Given the description of an element on the screen output the (x, y) to click on. 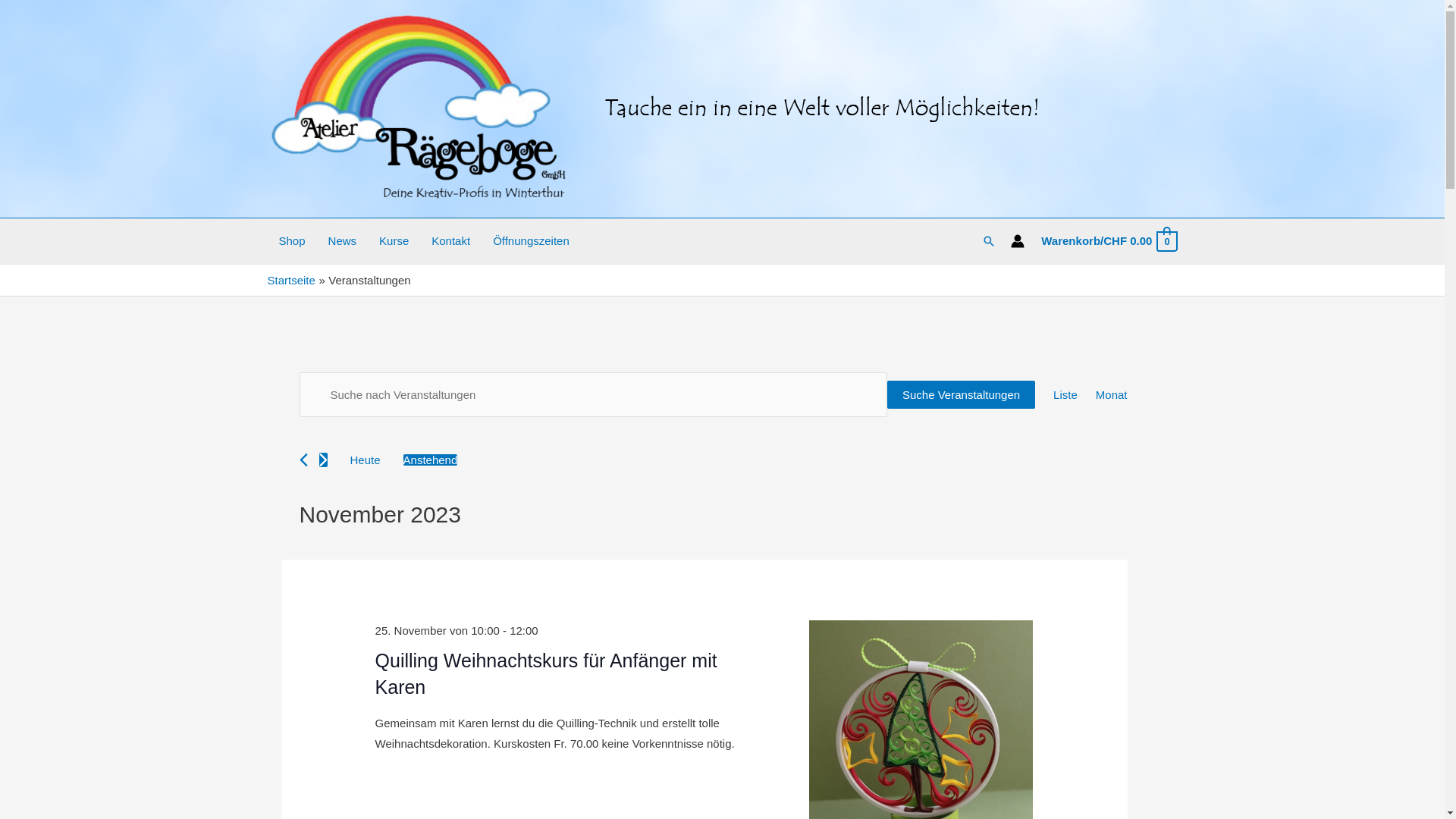
Kurse Element type: text (393, 240)
Vorherige Veranstaltungen Element type: hover (302, 459)
News Element type: text (342, 240)
Heute Element type: text (364, 460)
Shop Element type: text (291, 240)
Startseite Element type: text (290, 279)
Anstehend Element type: text (430, 459)
Suche Veranstaltungen Element type: text (961, 394)
Liste Element type: text (1065, 394)
Suche Element type: text (988, 240)
Monat Element type: text (1111, 394)
Warenkorb/CHF 0.00
0 Element type: text (1107, 241)
Kontakt Element type: text (450, 240)
